Given the description of an element on the screen output the (x, y) to click on. 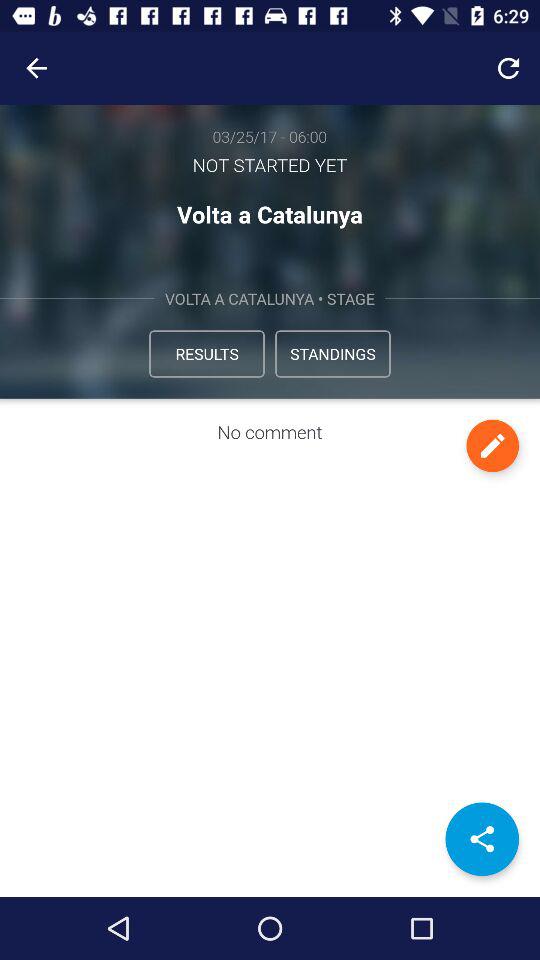
click icon on the right (492, 445)
